Given the description of an element on the screen output the (x, y) to click on. 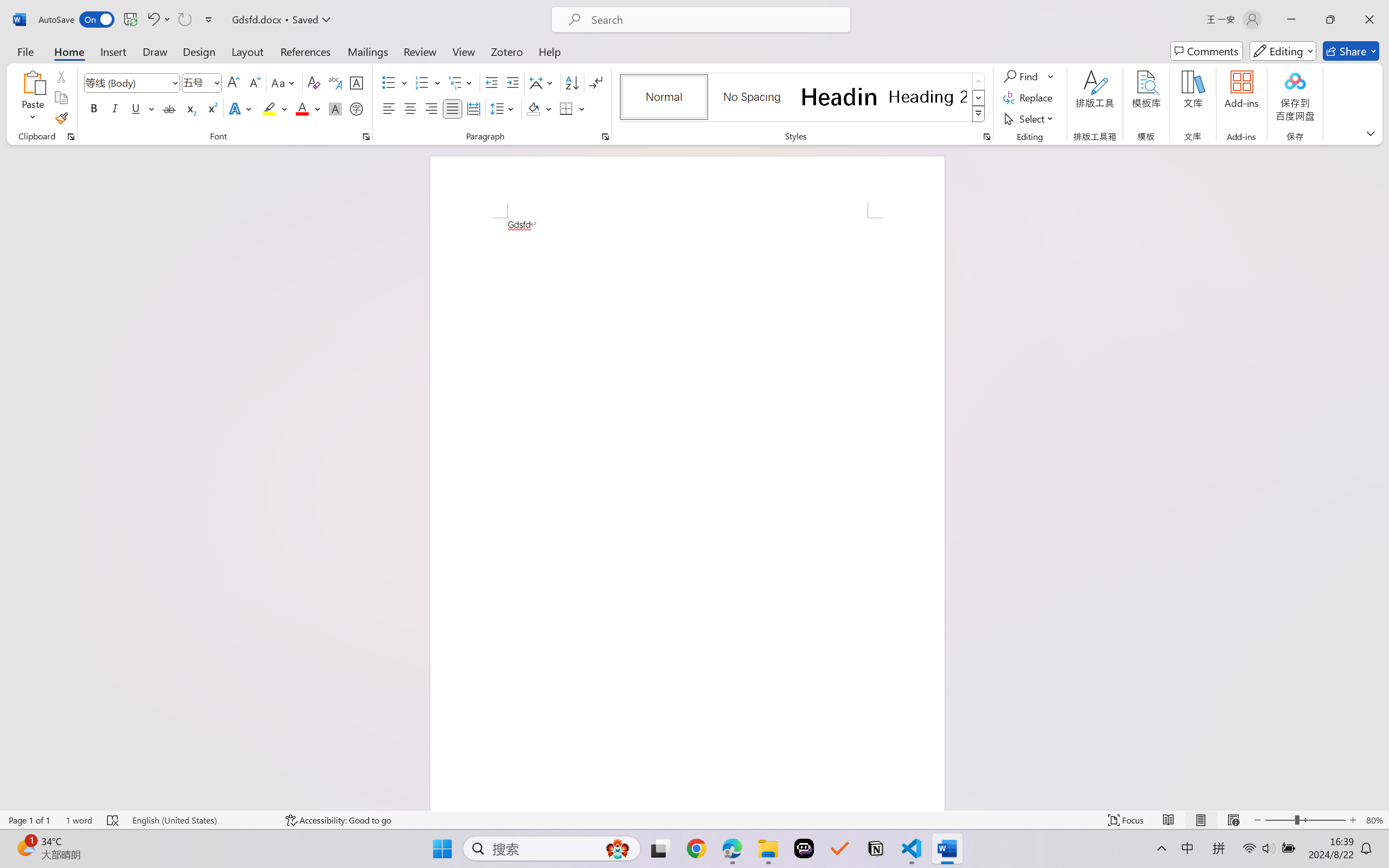
Class: NetUIScrollBar (1382, 477)
